Given the description of an element on the screen output the (x, y) to click on. 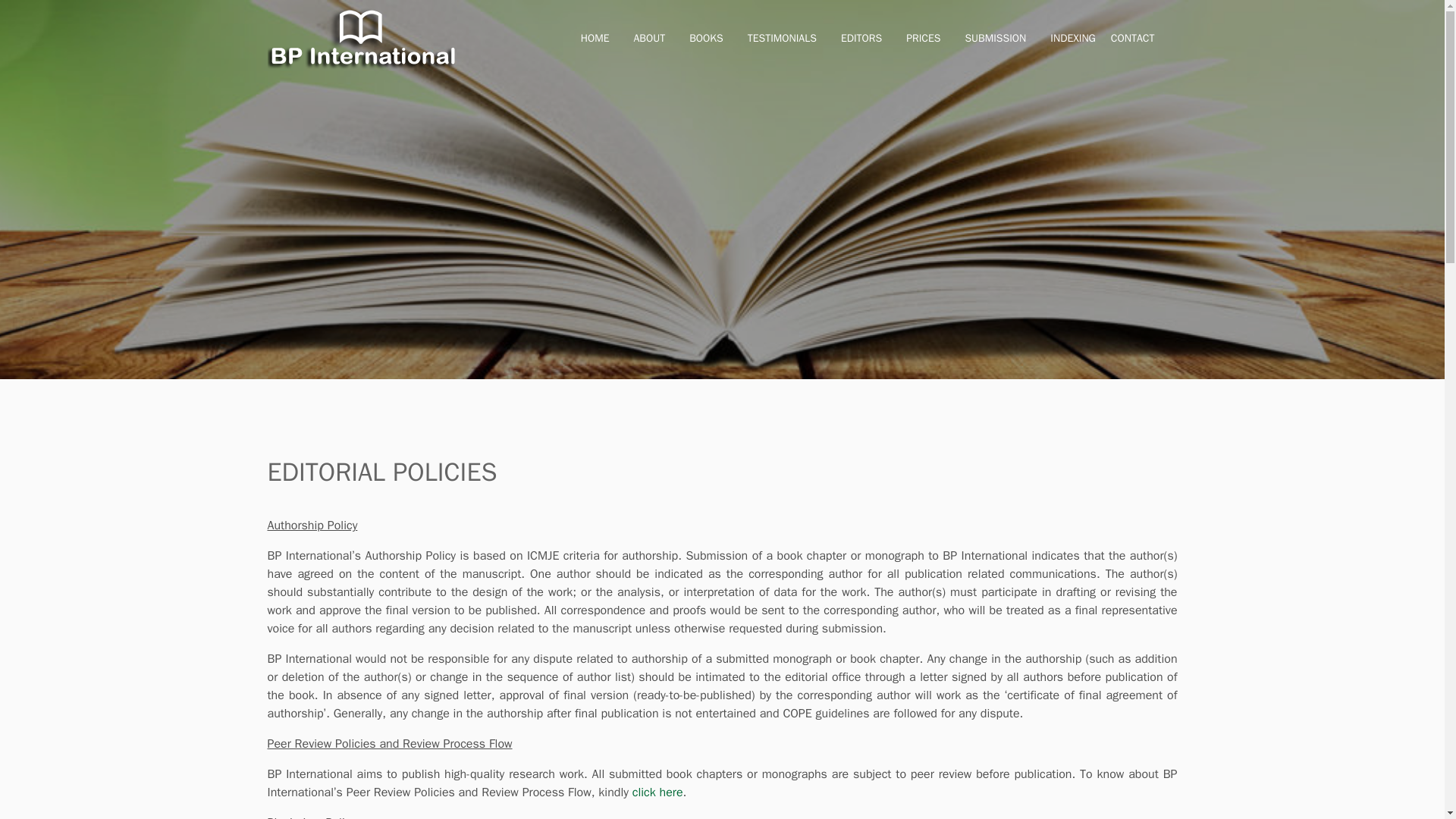
INDEXING (1072, 38)
click here (656, 792)
TESTIMONIALS (782, 38)
BOOKS (705, 38)
PRICES (922, 38)
CONTACT (1132, 38)
ABOUT (649, 38)
EDITORS (861, 38)
SUBMISSION (994, 38)
